Given the description of an element on the screen output the (x, y) to click on. 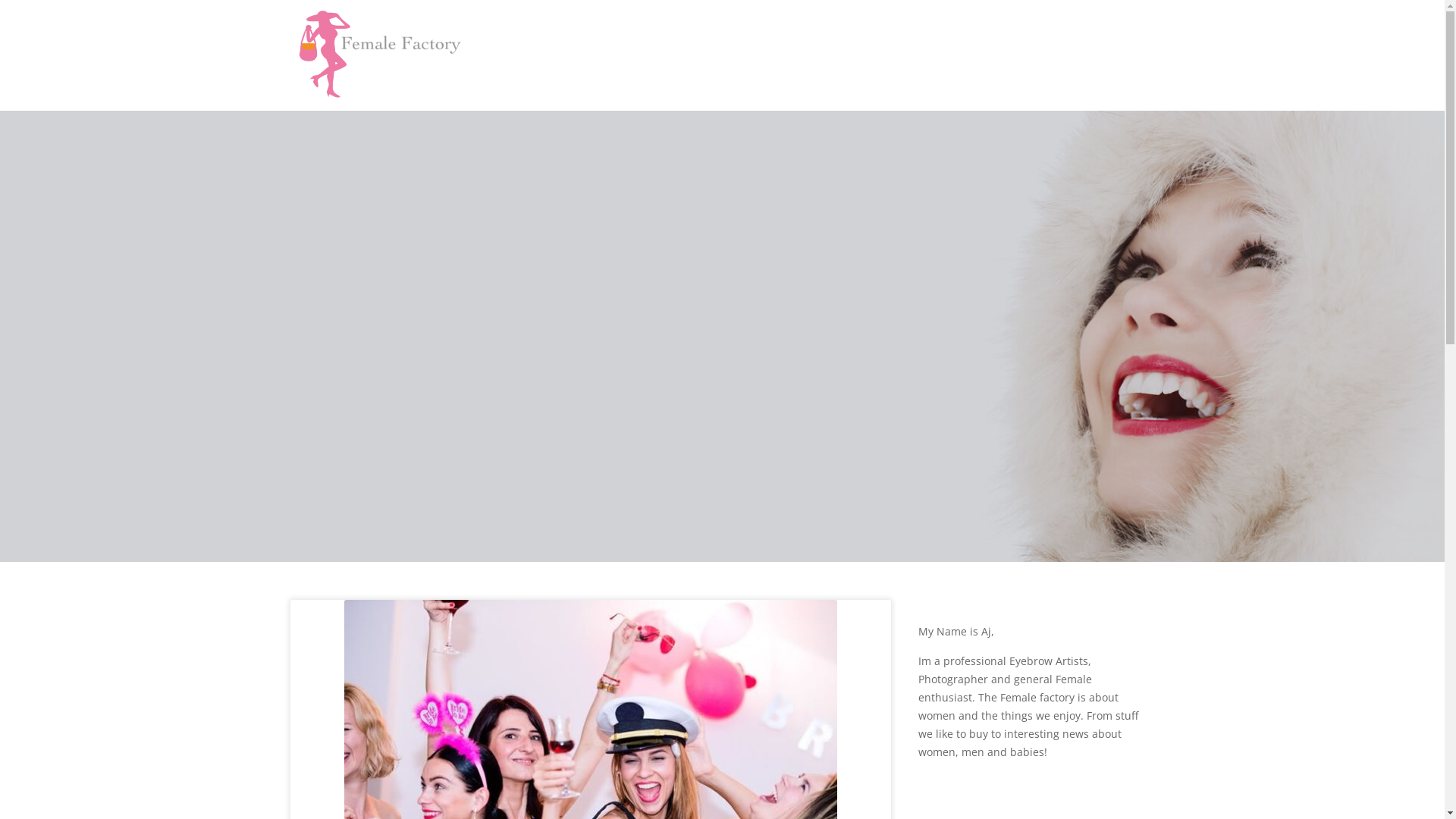
Skip to content Element type: text (0, 0)
